Given the description of an element on the screen output the (x, y) to click on. 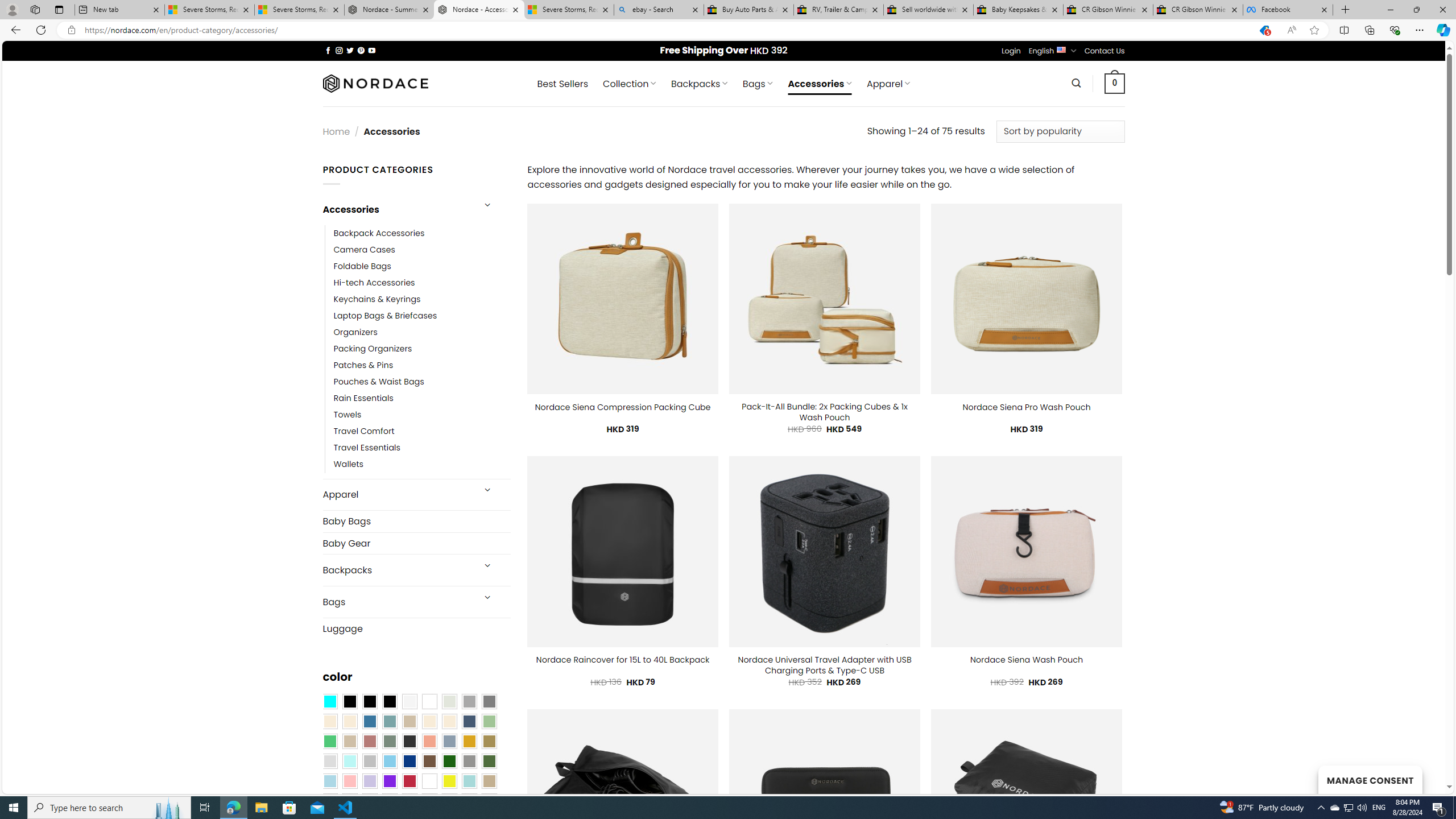
Patches & Pins (422, 365)
Follow on Facebook (327, 49)
Backpacks (397, 570)
  Best Sellers (562, 83)
Refresh (40, 29)
Keychains & Keyrings (422, 298)
ebay - Search (658, 9)
Follow on YouTube (371, 49)
Luggage (416, 627)
Brown (429, 761)
Nordace Siena Compression Packing Cube (622, 406)
Black (369, 701)
Pack-It-All Bundle: 2x Packing Cubes & 1x Wash Pouch (824, 412)
